Given the description of an element on the screen output the (x, y) to click on. 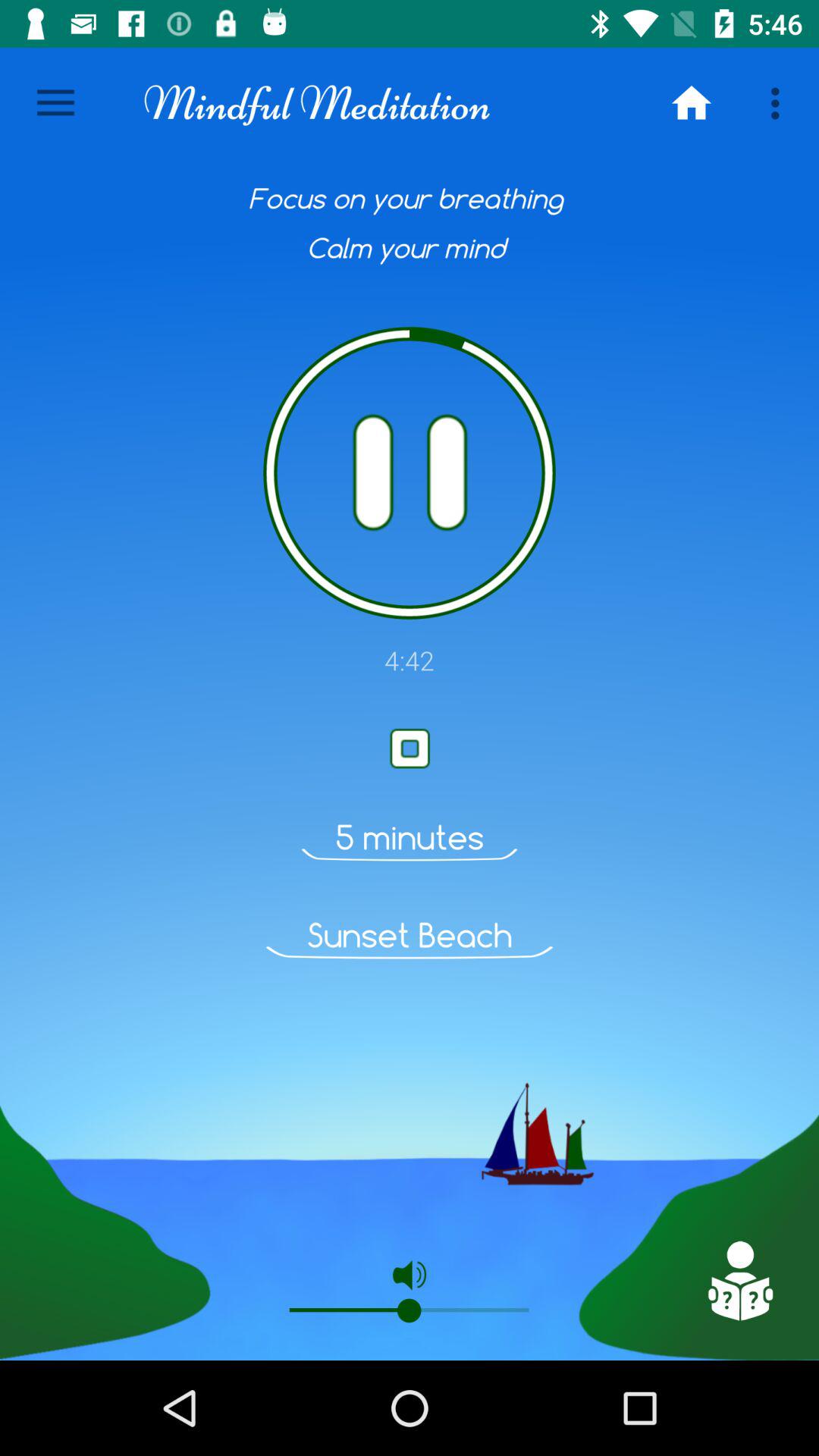
scroll until the   sunset beach   item (409, 935)
